Given the description of an element on the screen output the (x, y) to click on. 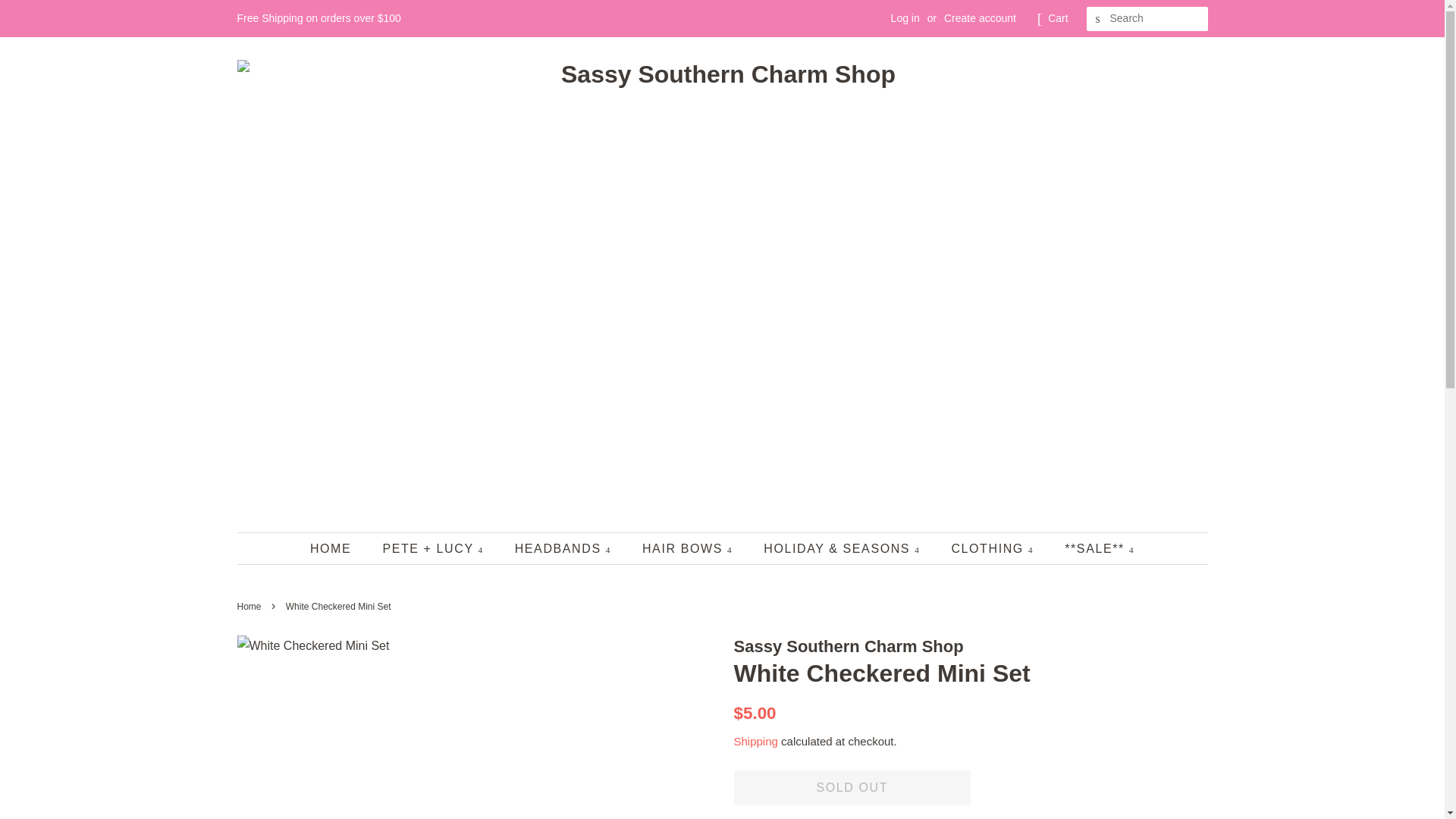
Create account (979, 18)
Back to the frontpage (249, 606)
Log in (905, 18)
SEARCH (1097, 18)
Cart (1057, 18)
